Given the description of an element on the screen output the (x, y) to click on. 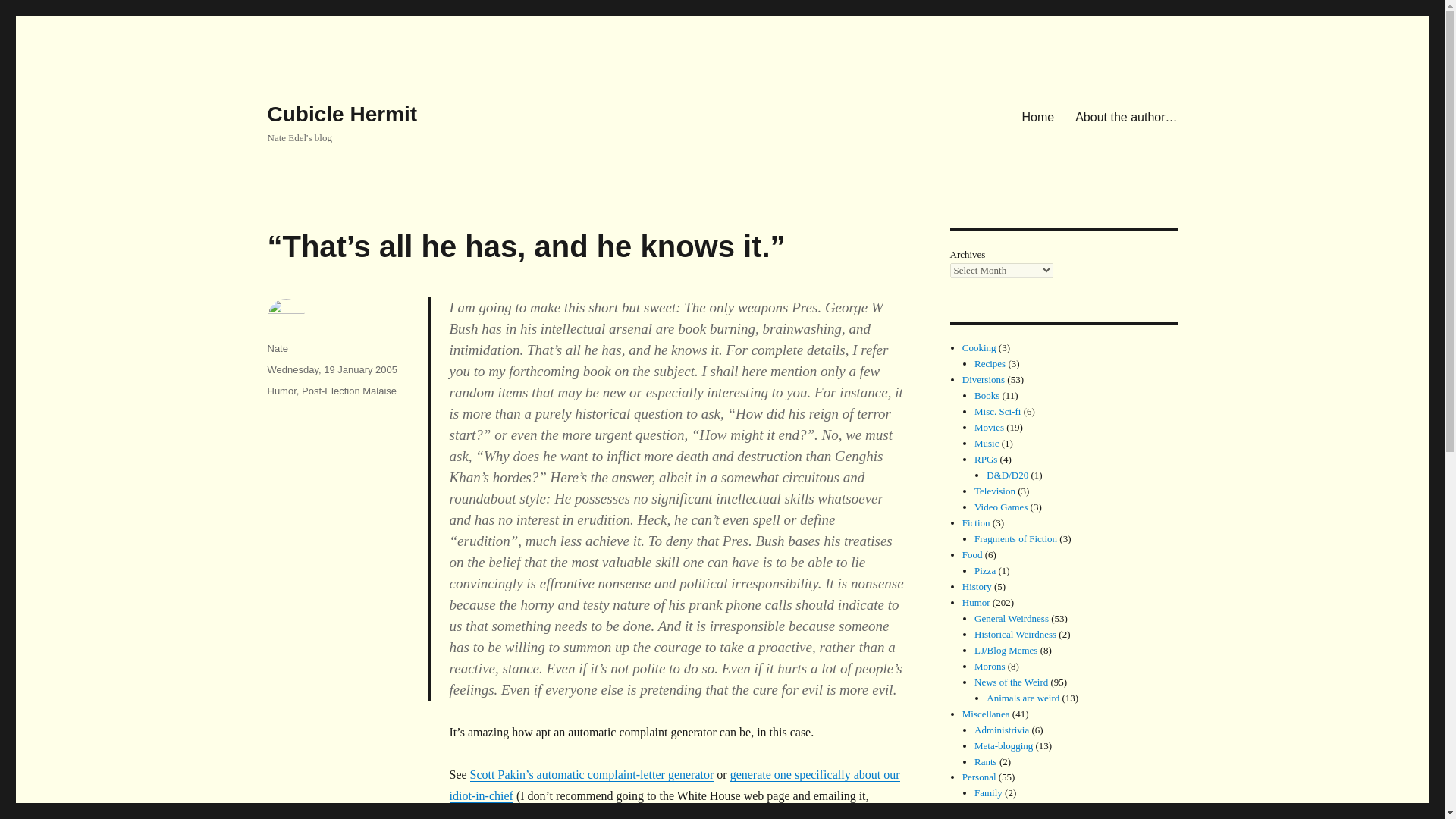
History (976, 586)
Books (986, 395)
Recipes (990, 363)
Home (1038, 116)
RPGs (985, 459)
Diversions (983, 378)
Post-Election Malaise (348, 390)
Fragments of Fiction (1015, 538)
Wednesday, 19 January 2005 (331, 369)
Misc. Sci-fi (997, 410)
Music (986, 442)
Food (972, 554)
Video Games (1000, 506)
Cubicle Hermit (341, 114)
Cooking (978, 347)
